Given the description of an element on the screen output the (x, y) to click on. 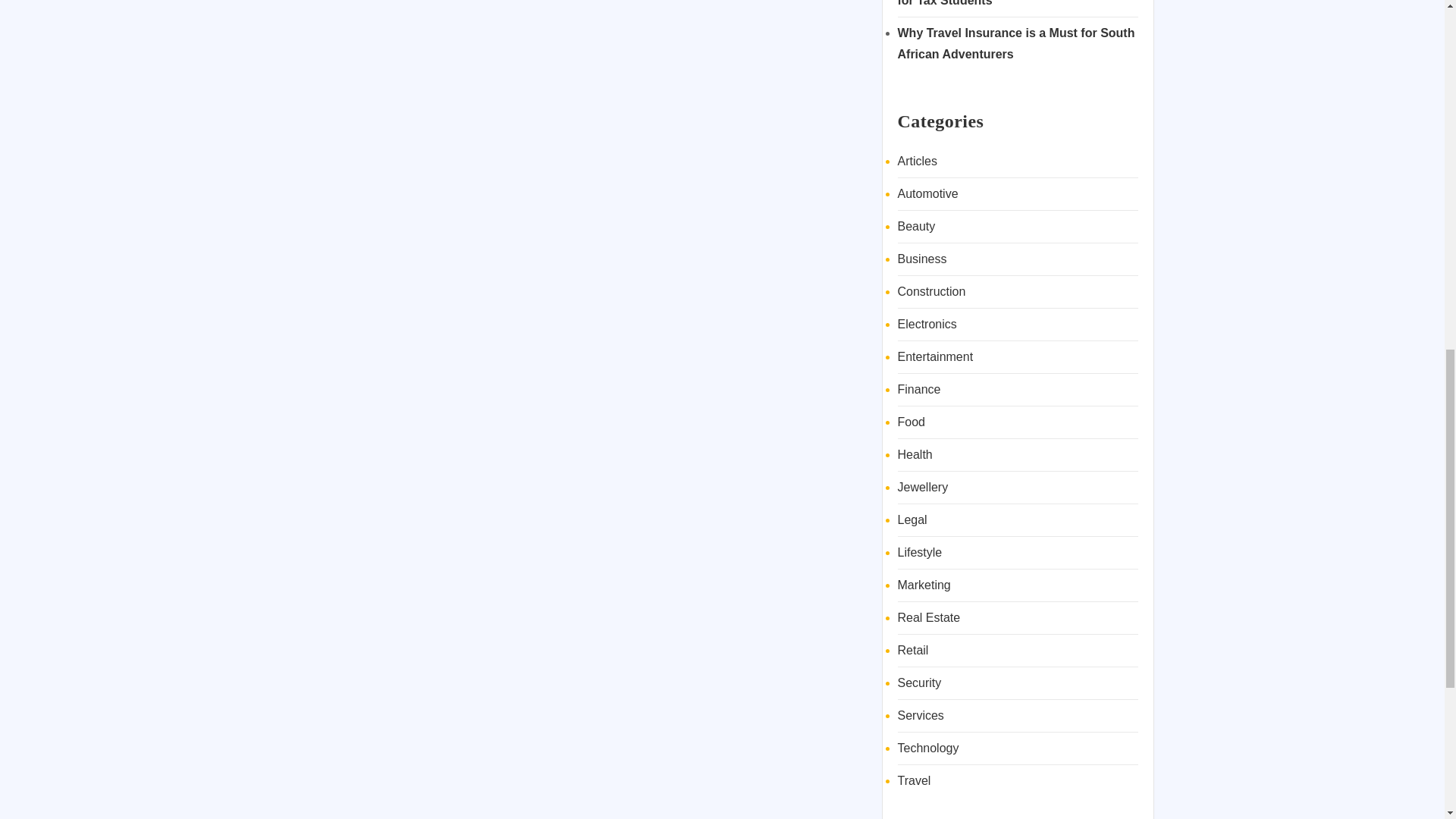
Electronics (927, 323)
Real Estate (929, 617)
Marketing (924, 584)
Retail (913, 649)
Beauty (917, 226)
Why Travel Insurance is a Must for South African Adventurers (1016, 43)
Lifestyle (920, 552)
Security (920, 682)
Automotive (928, 193)
Business (922, 258)
Articles (917, 160)
Health (915, 454)
Jewellery (923, 486)
Staying Ahead: Organizational Strategies for Tax Students (1016, 3)
Construction (932, 291)
